Given the description of an element on the screen output the (x, y) to click on. 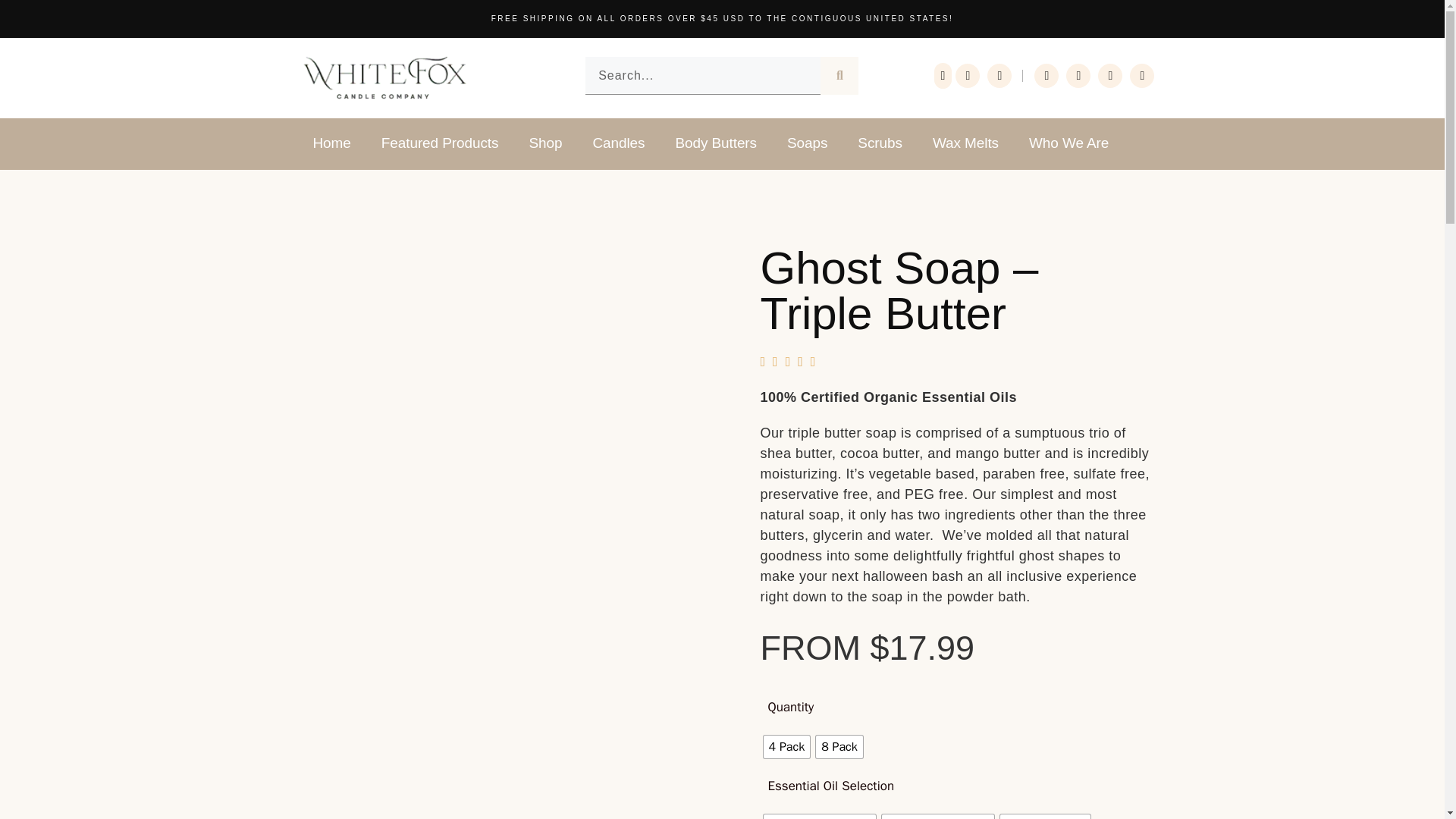
4 Pack (785, 746)
Candles (617, 147)
8 Pack (839, 746)
Who We Are (1068, 147)
Home (331, 147)
Soaps (807, 147)
Australian Tea Tree (819, 816)
Body Butters (715, 147)
Bulgarian Rose (1045, 816)
Shop (544, 147)
